Given the description of an element on the screen output the (x, y) to click on. 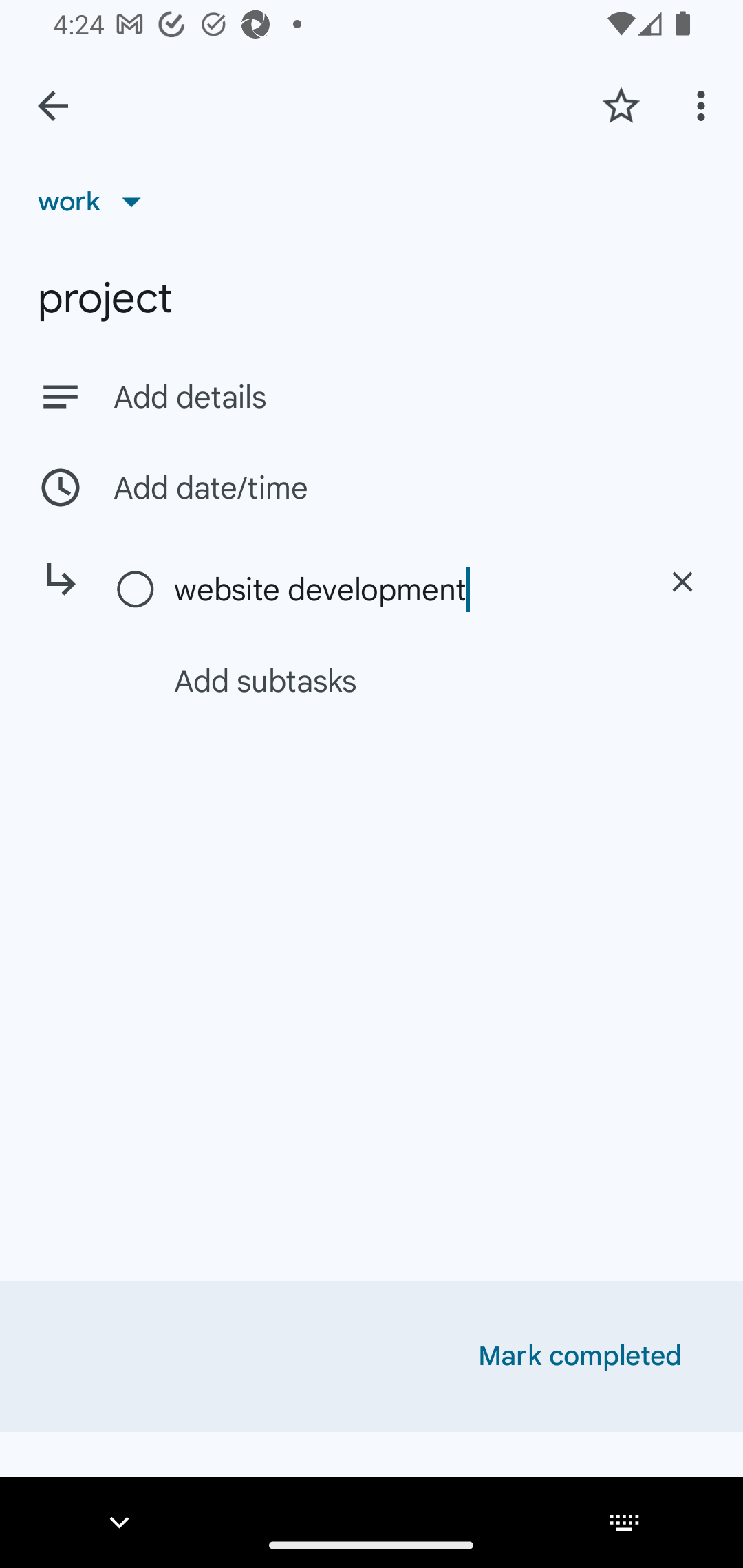
Back (53, 105)
Add star (620, 105)
More options (704, 105)
work List, work selected, 1 of 15 (95, 201)
project (371, 298)
Add details (371, 396)
Add details (409, 397)
Add date/time (371, 487)
website development (401, 589)
Delete subtask (682, 581)
Mark as complete (136, 590)
Add subtasks (394, 680)
Mark completed (580, 1355)
